Given the description of an element on the screen output the (x, y) to click on. 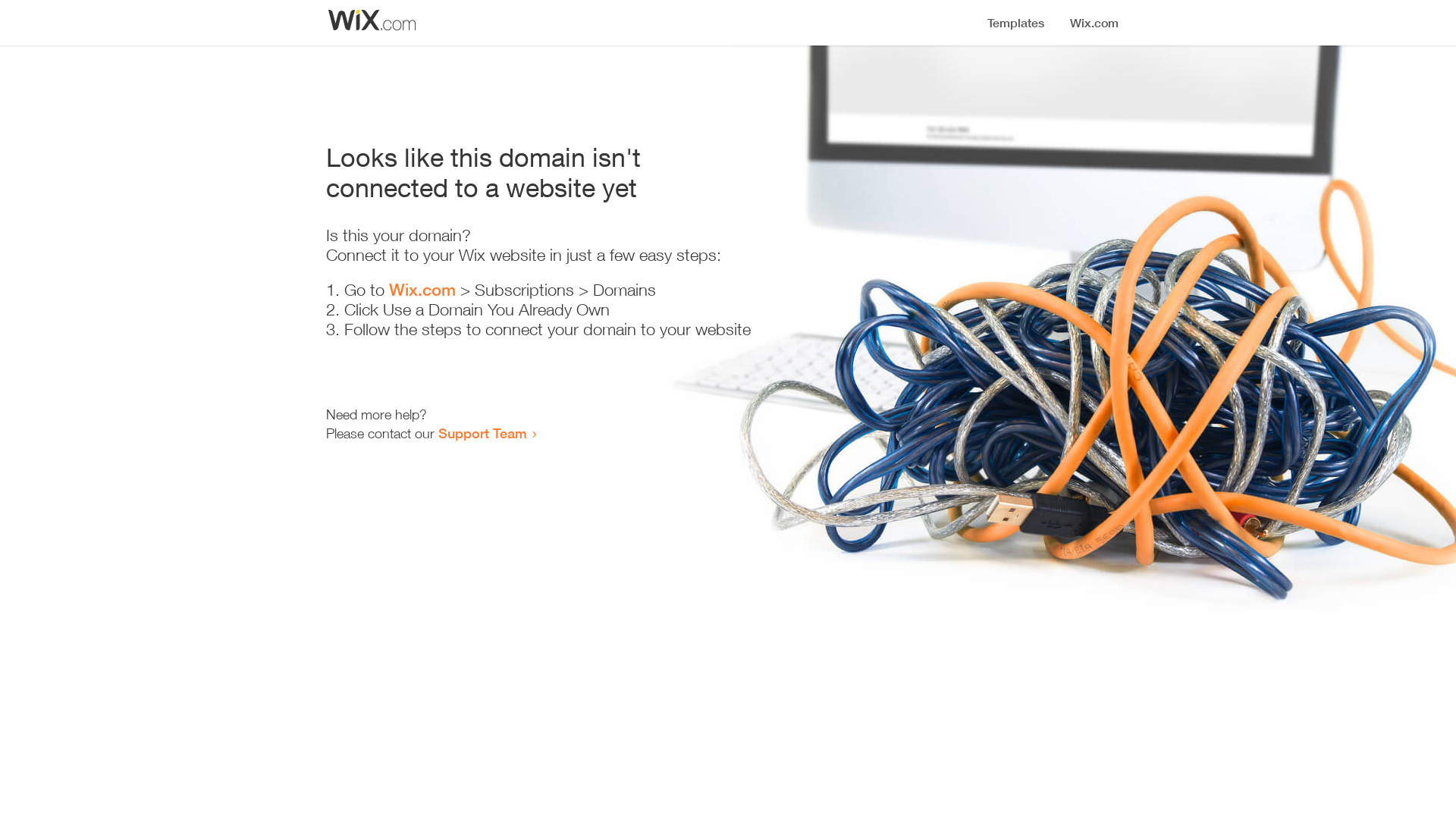
Wix.com Element type: text (422, 289)
Support Team Element type: text (482, 432)
